Given the description of an element on the screen output the (x, y) to click on. 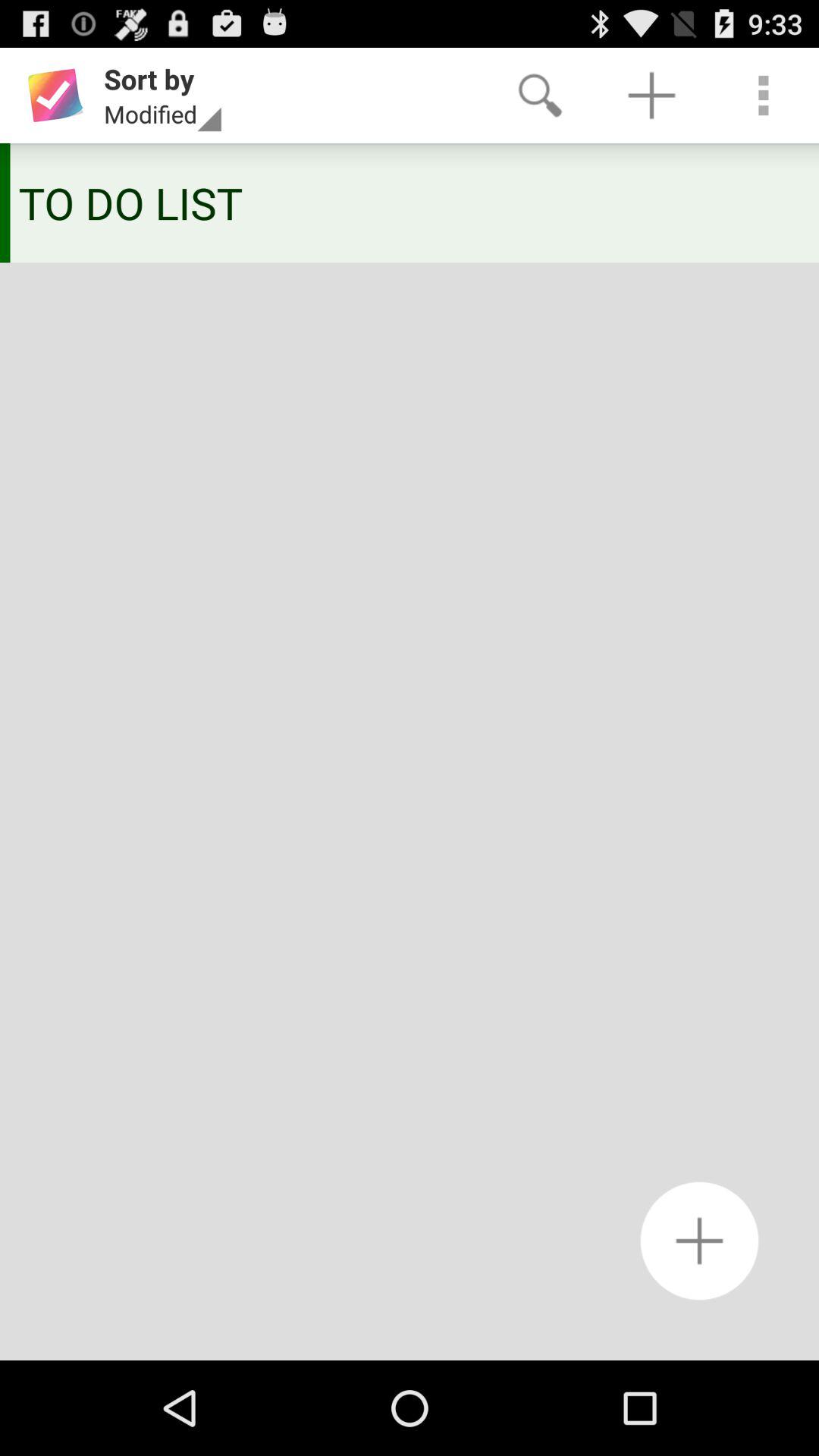
launch app above the to do list (651, 95)
